Given the description of an element on the screen output the (x, y) to click on. 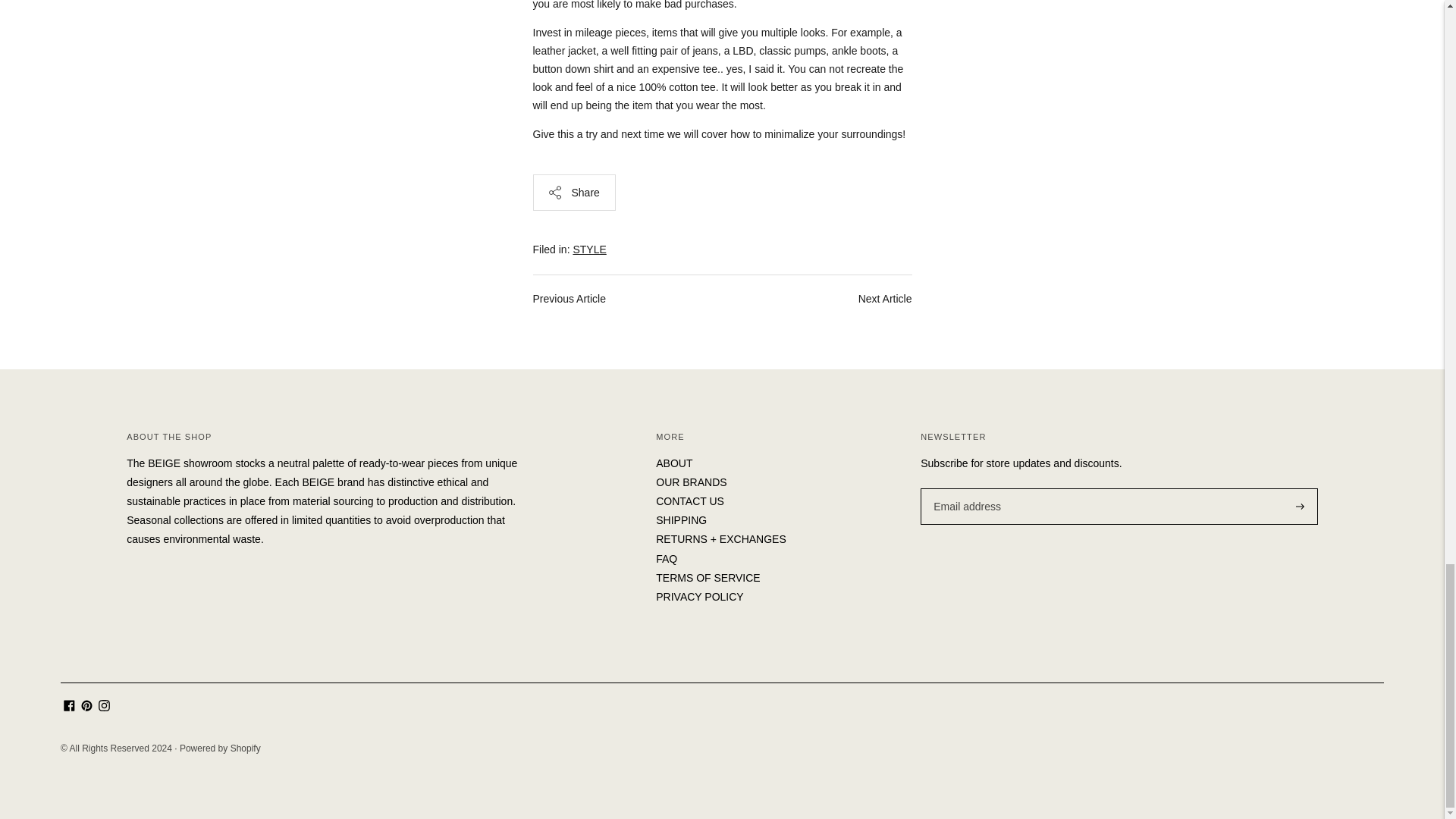
BEIGE  on Instagram (104, 707)
BEIGE  on Facebook (69, 707)
BEIGE  on Pinterest (87, 707)
